Given the description of an element on the screen output the (x, y) to click on. 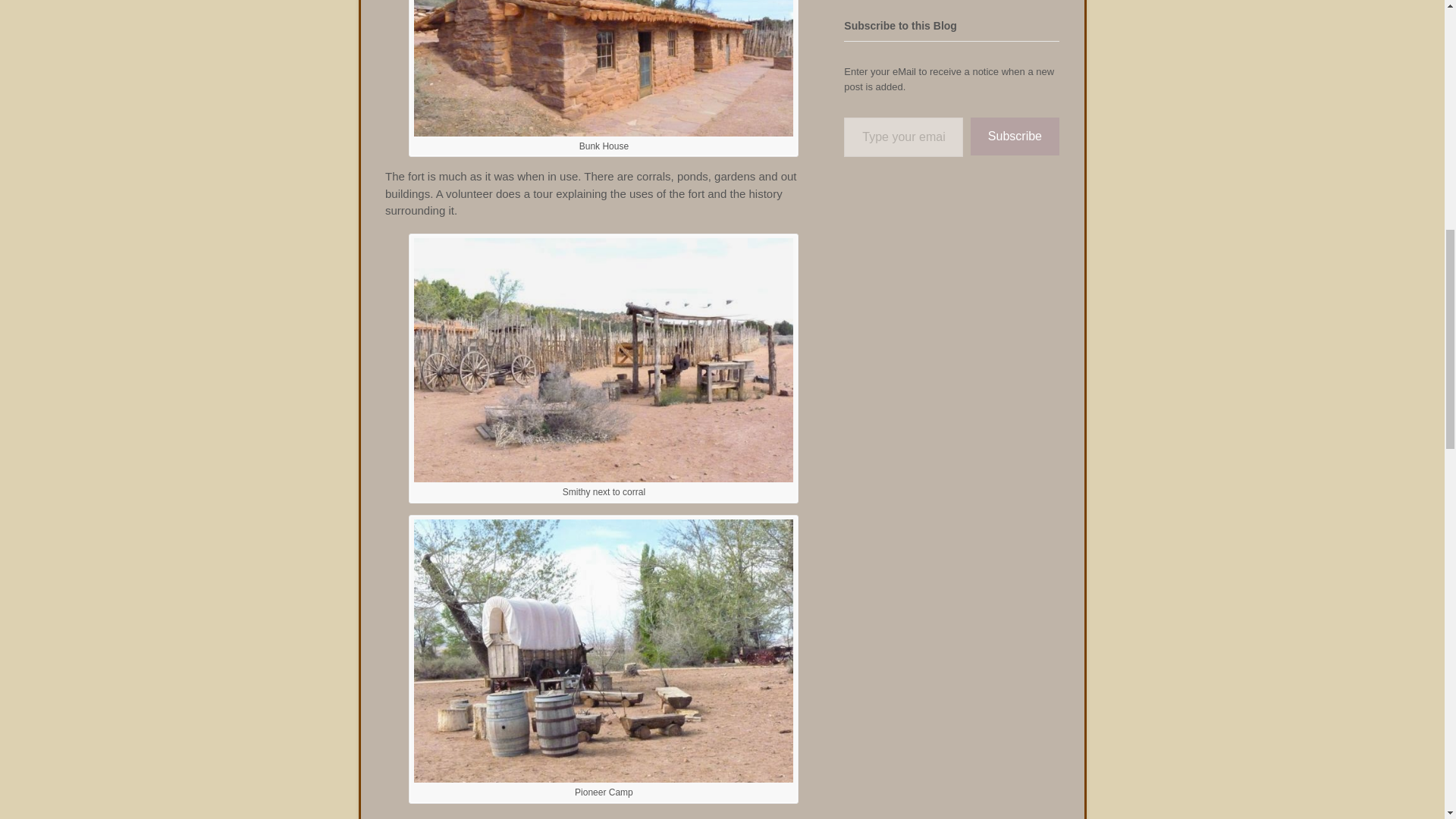
Smithy next to corral (603, 476)
Bunk House (603, 129)
Pioneer Camp (603, 776)
